Given the description of an element on the screen output the (x, y) to click on. 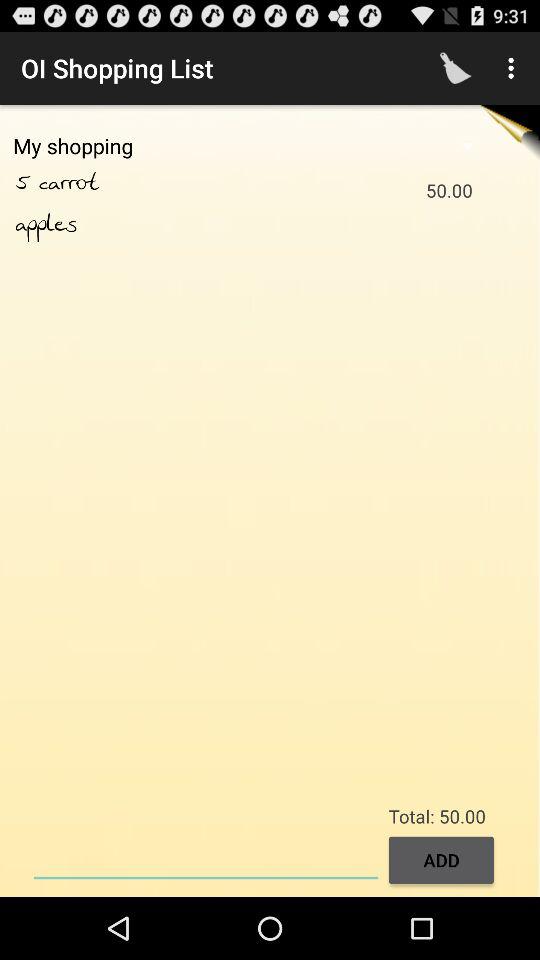
launch the item above the total: 50.00 icon (513, 67)
